Given the description of an element on the screen output the (x, y) to click on. 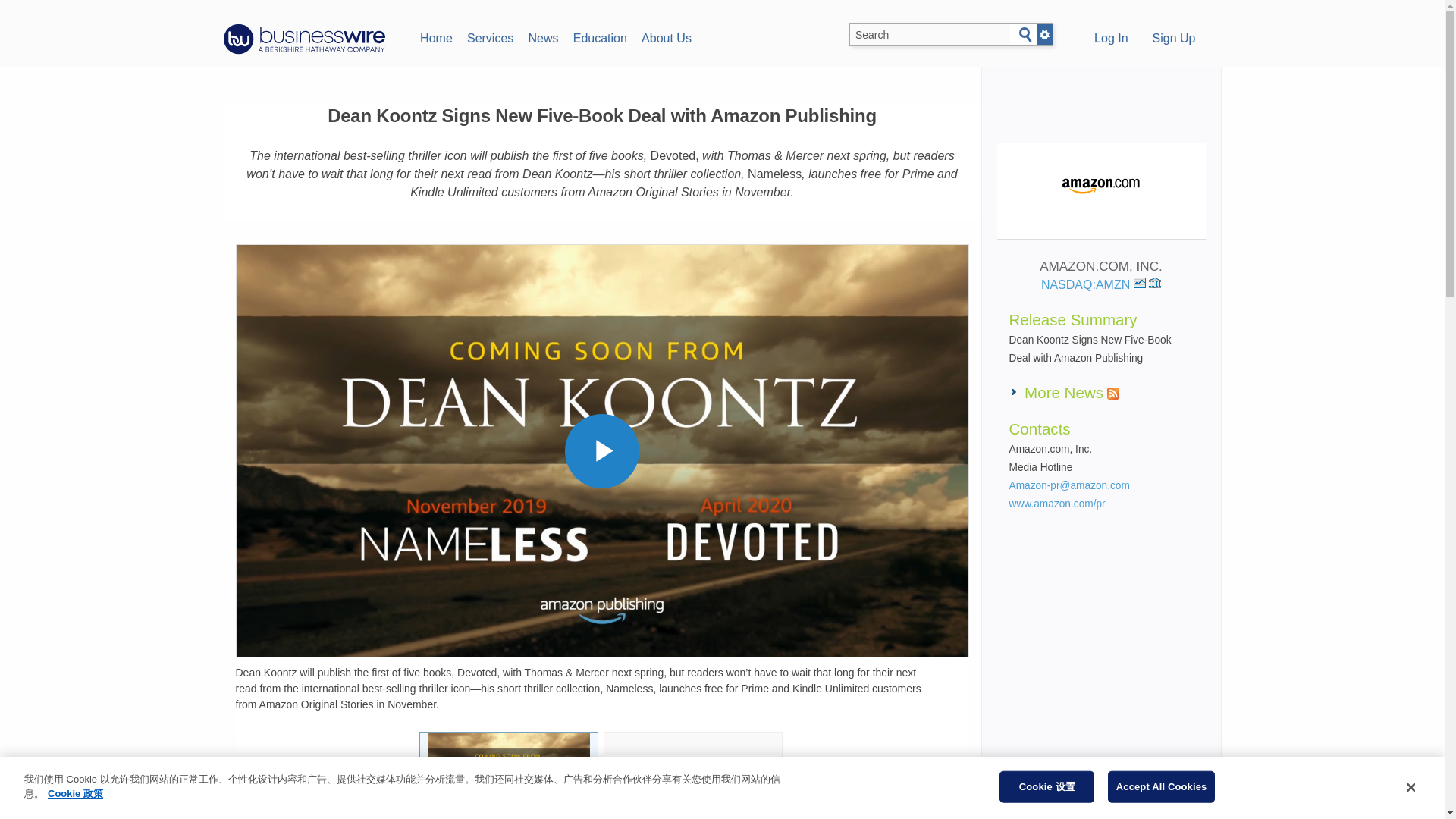
Home (436, 36)
Play Video (601, 451)
Play Video (601, 451)
NASDAQ:AMZN (1093, 284)
